Given the description of an element on the screen output the (x, y) to click on. 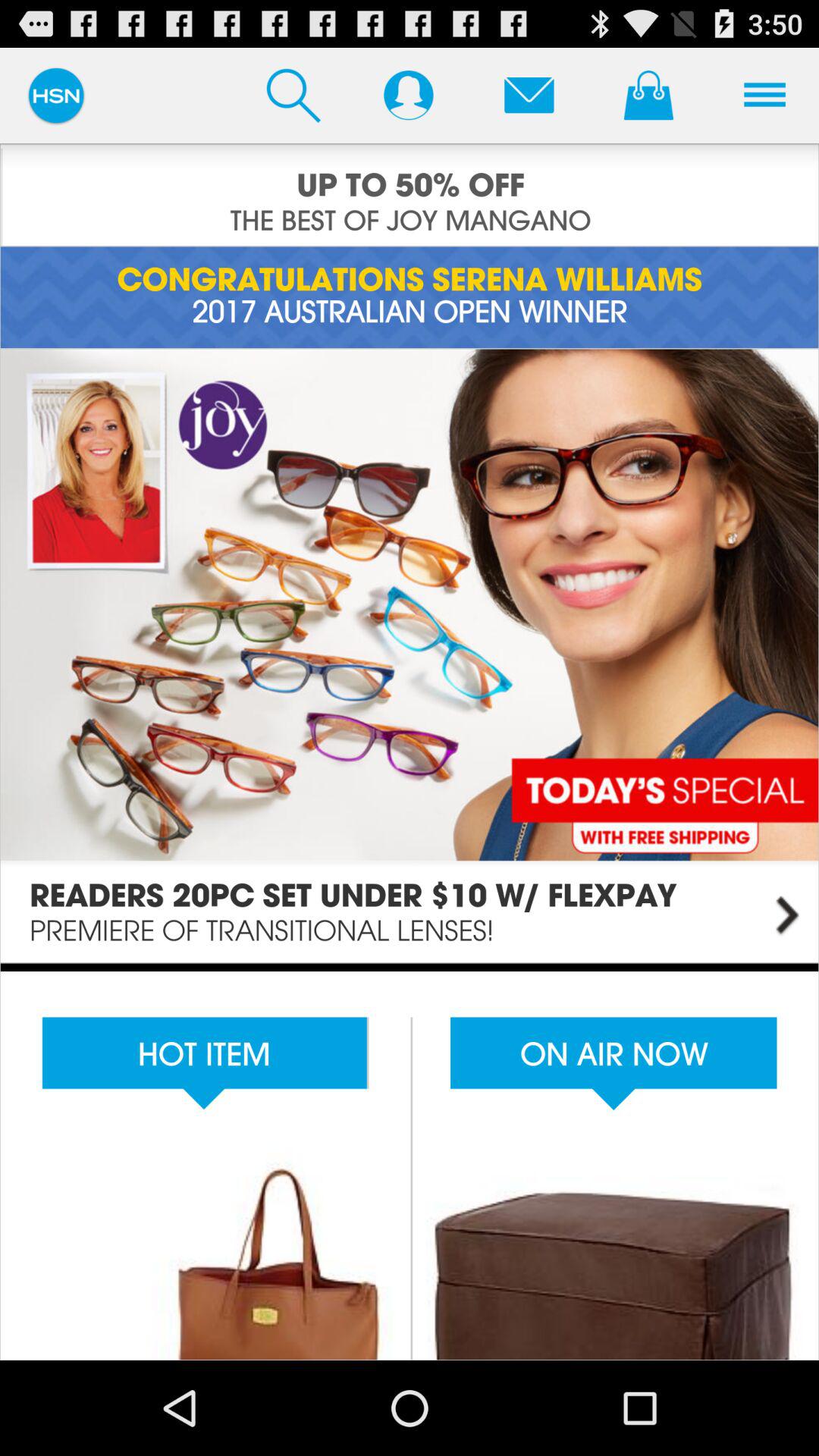
cart option (648, 95)
